Given the description of an element on the screen output the (x, y) to click on. 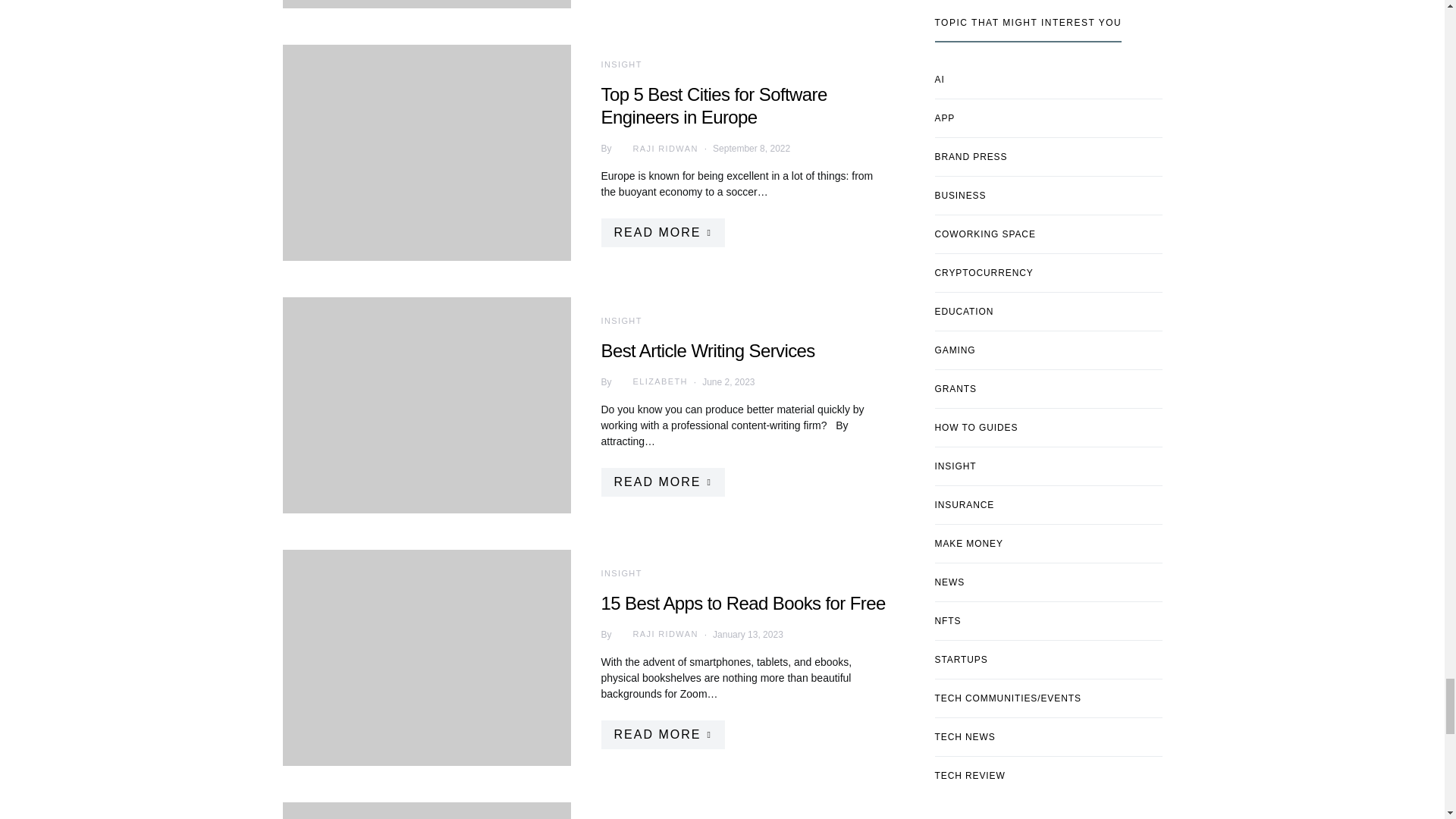
15 Best Apps to Read Books for Free 9 (426, 657)
The Pros And Cons Of Online File Converters 6 (426, 4)
Best Article Writing Services 8 (426, 405)
Top 5 Best Cities for Software Engineers in Europe 7 (426, 153)
View all posts by Raji Ridwan (654, 148)
View all posts by Elizabeth (649, 381)
View all posts by Raji Ridwan (654, 634)
